Given the description of an element on the screen output the (x, y) to click on. 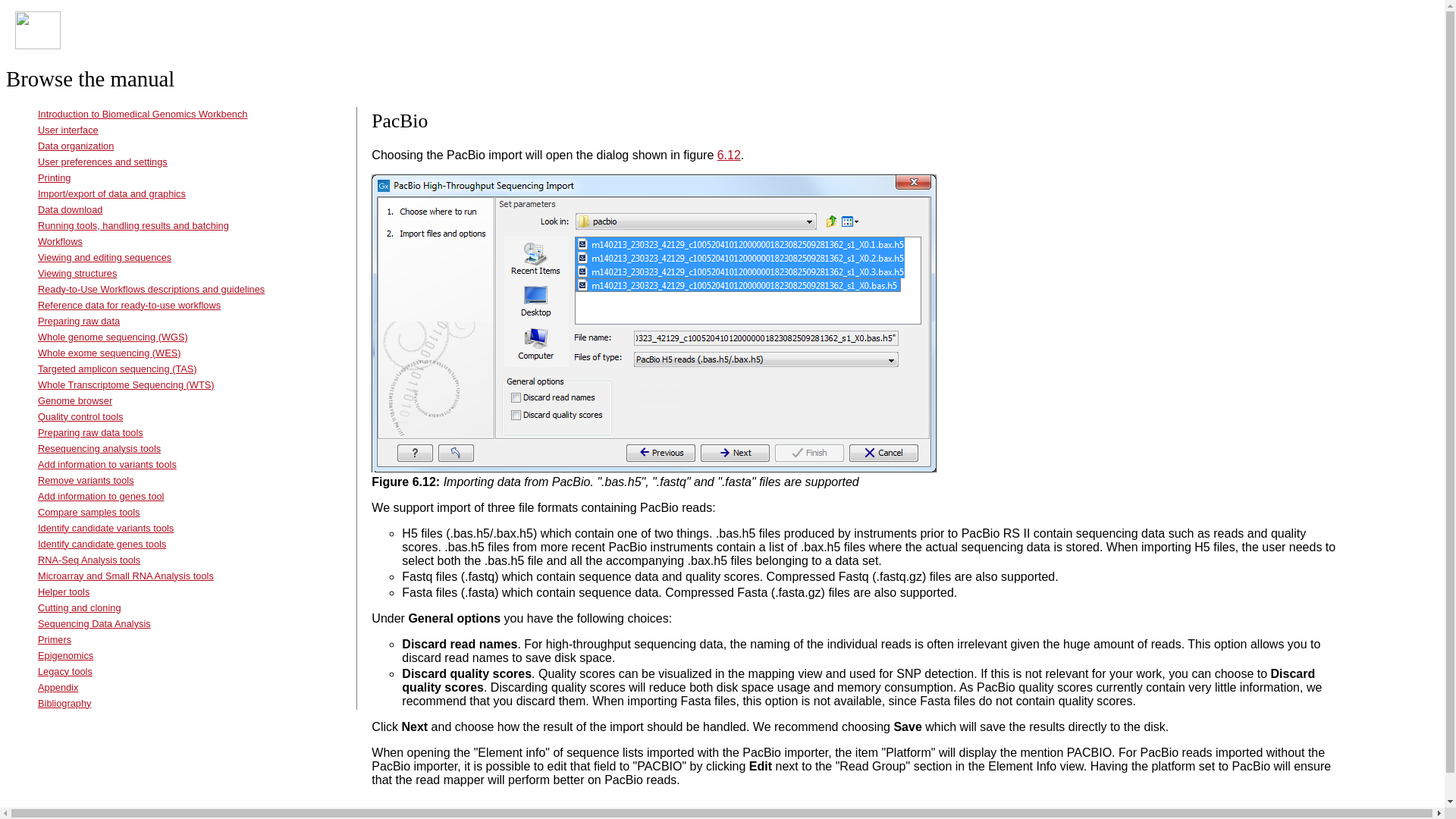
Manuals (83, 36)
Introduction to Biomedical Genomics Workbench (142, 113)
User interface (68, 129)
